Given the description of an element on the screen output the (x, y) to click on. 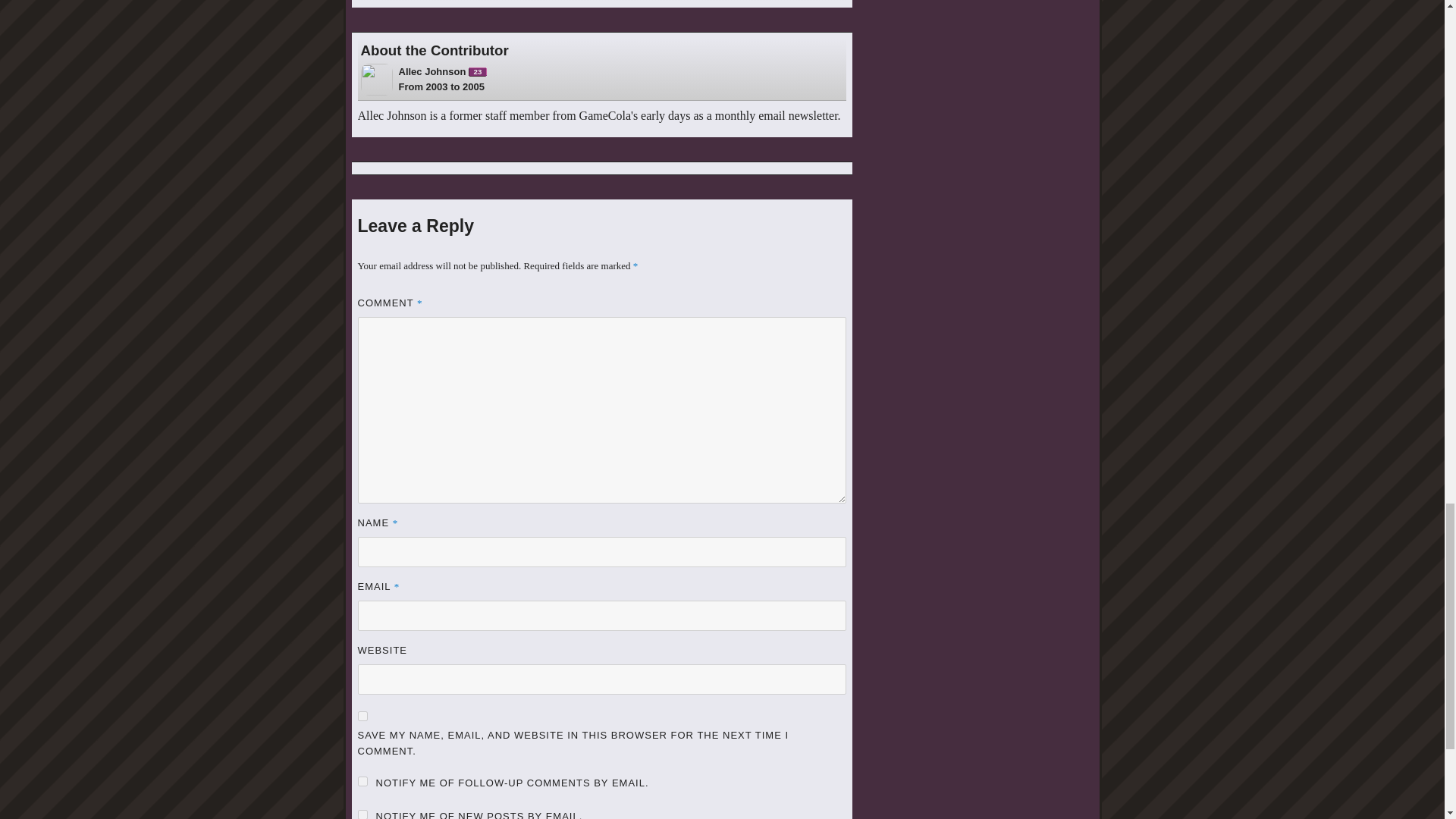
subscribe (442, 71)
subscribe (363, 814)
yes (363, 781)
